Given the description of an element on the screen output the (x, y) to click on. 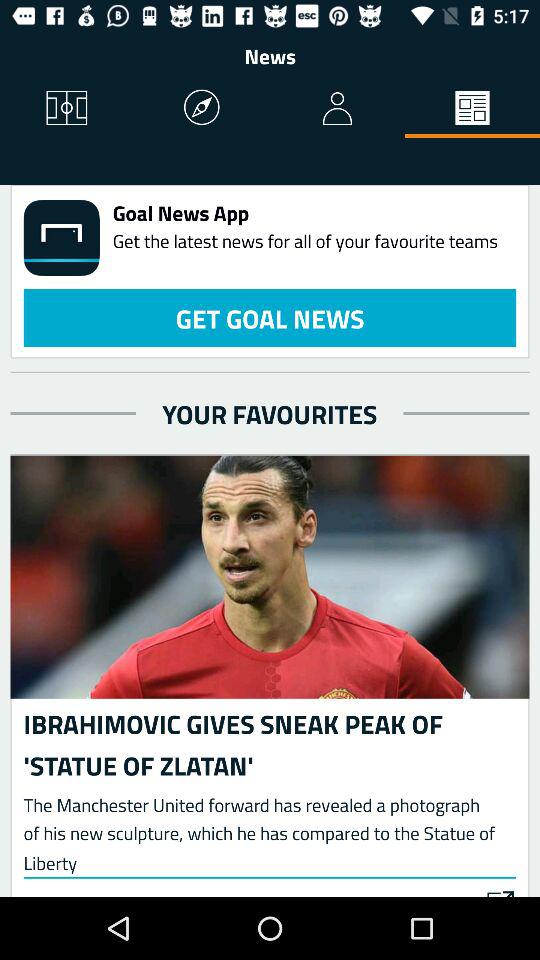
turn off item below news icon (202, 108)
